Given the description of an element on the screen output the (x, y) to click on. 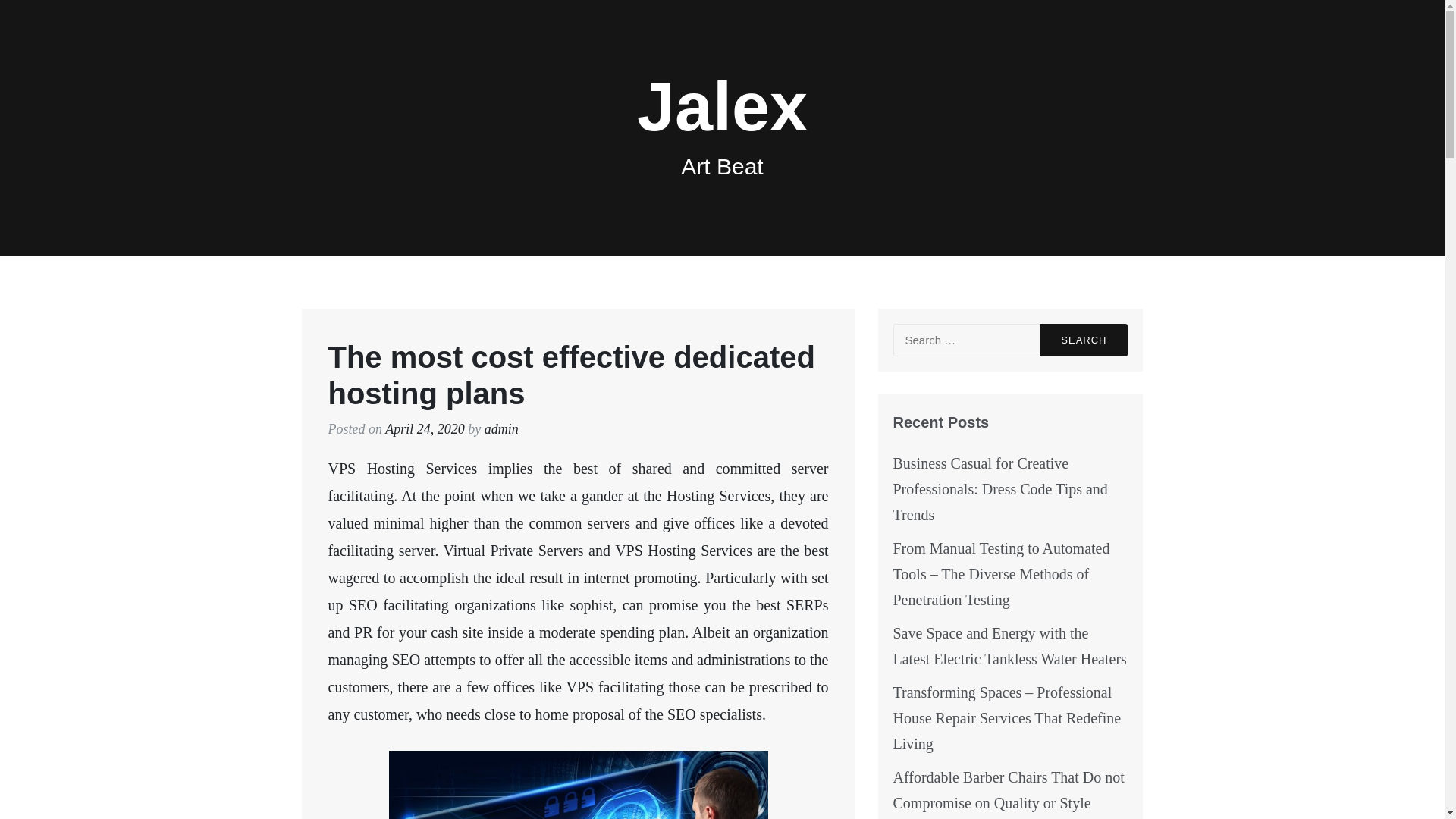
Search (1082, 339)
Search (1082, 339)
admin (501, 428)
Jalex (722, 106)
April 24, 2020 (424, 428)
Search (1082, 339)
